Given the description of an element on the screen output the (x, y) to click on. 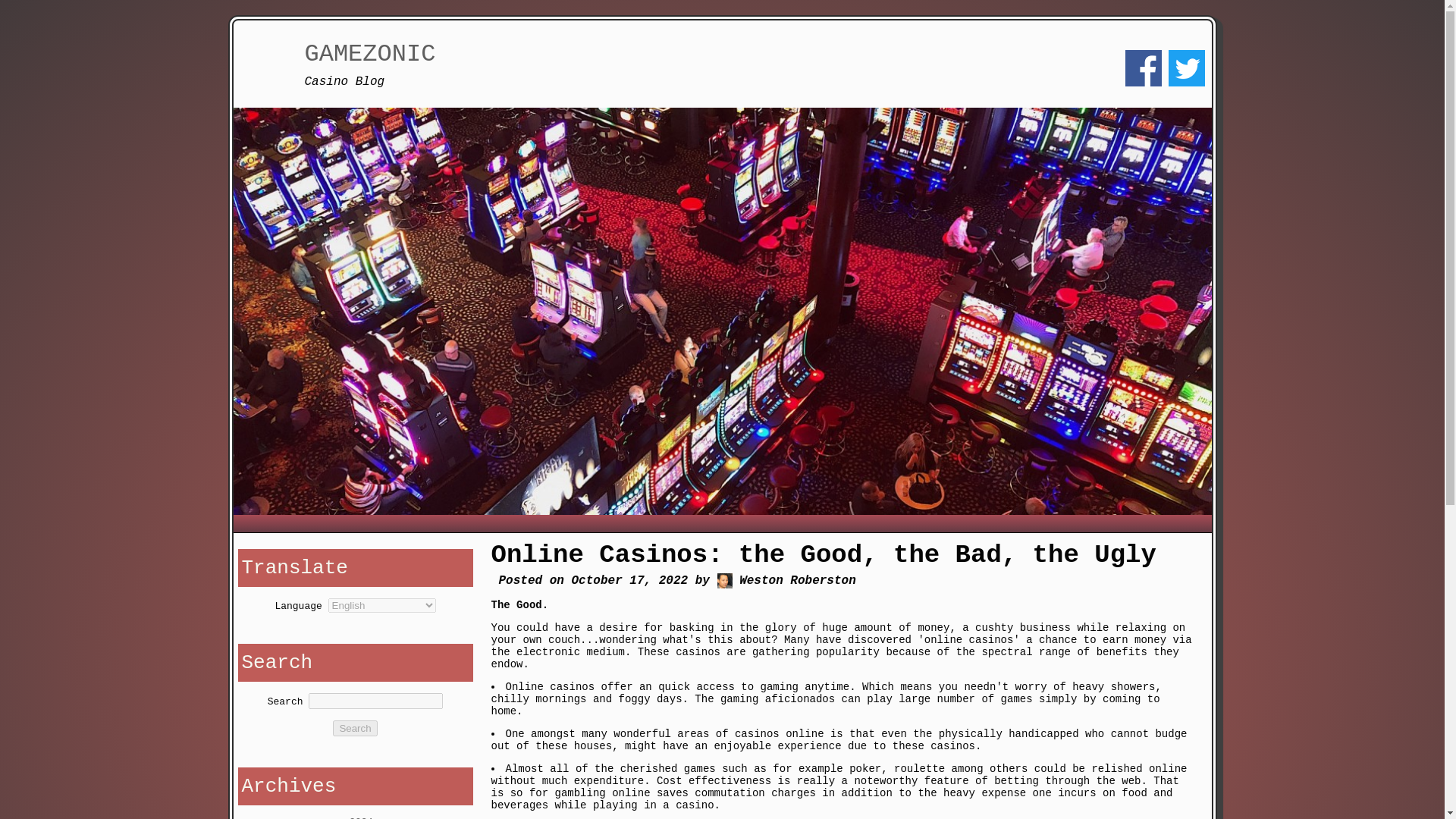
Weston Roberston (724, 580)
GAMEZONIC (369, 53)
2024 (360, 817)
Search (355, 728)
